Given the description of an element on the screen output the (x, y) to click on. 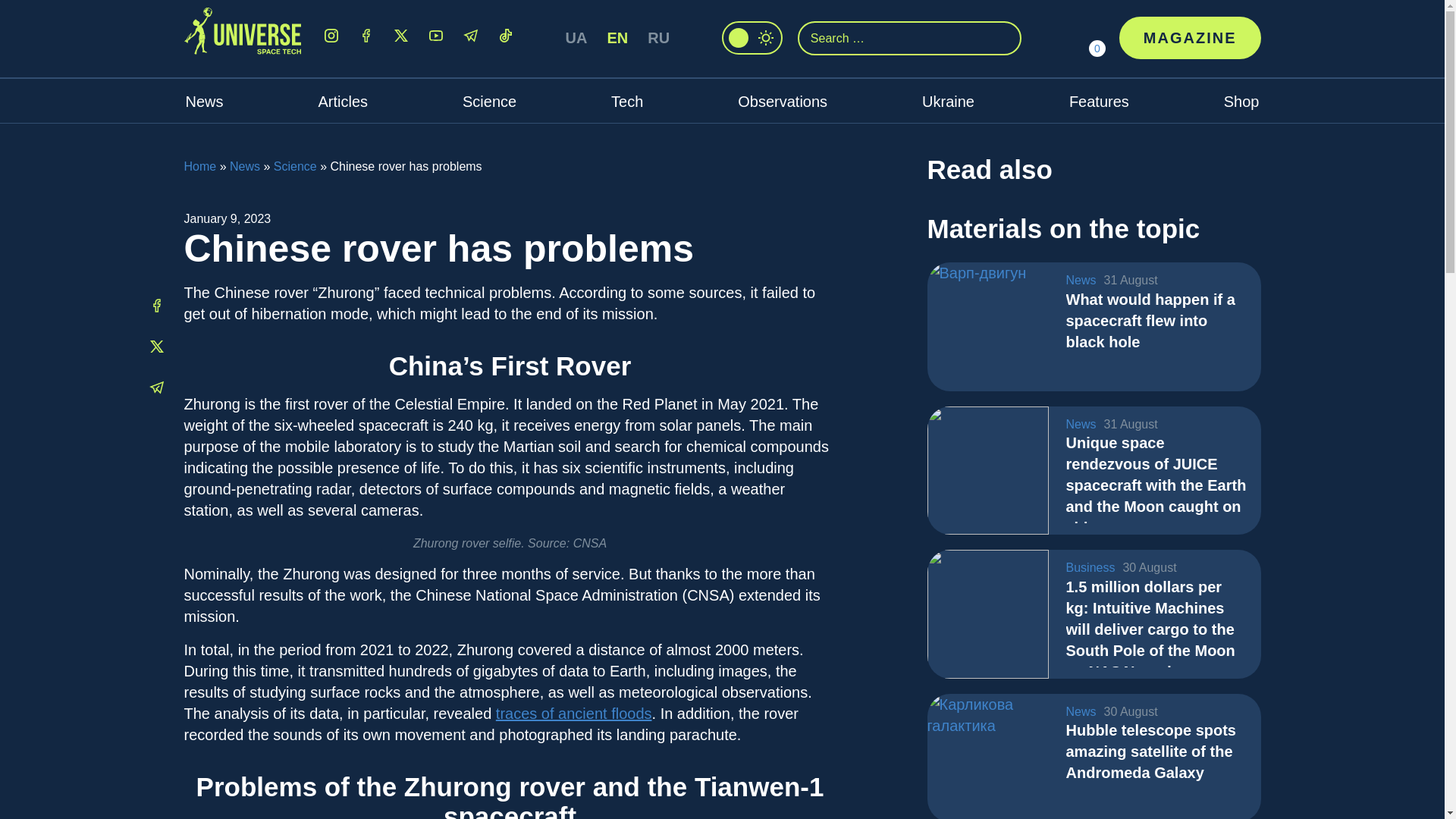
Features (1099, 101)
Home (199, 165)
Science (489, 101)
RU (658, 37)
UA (577, 37)
News (203, 101)
Search (1005, 36)
News (245, 165)
Science (295, 165)
Search (1005, 36)
